Given the description of an element on the screen output the (x, y) to click on. 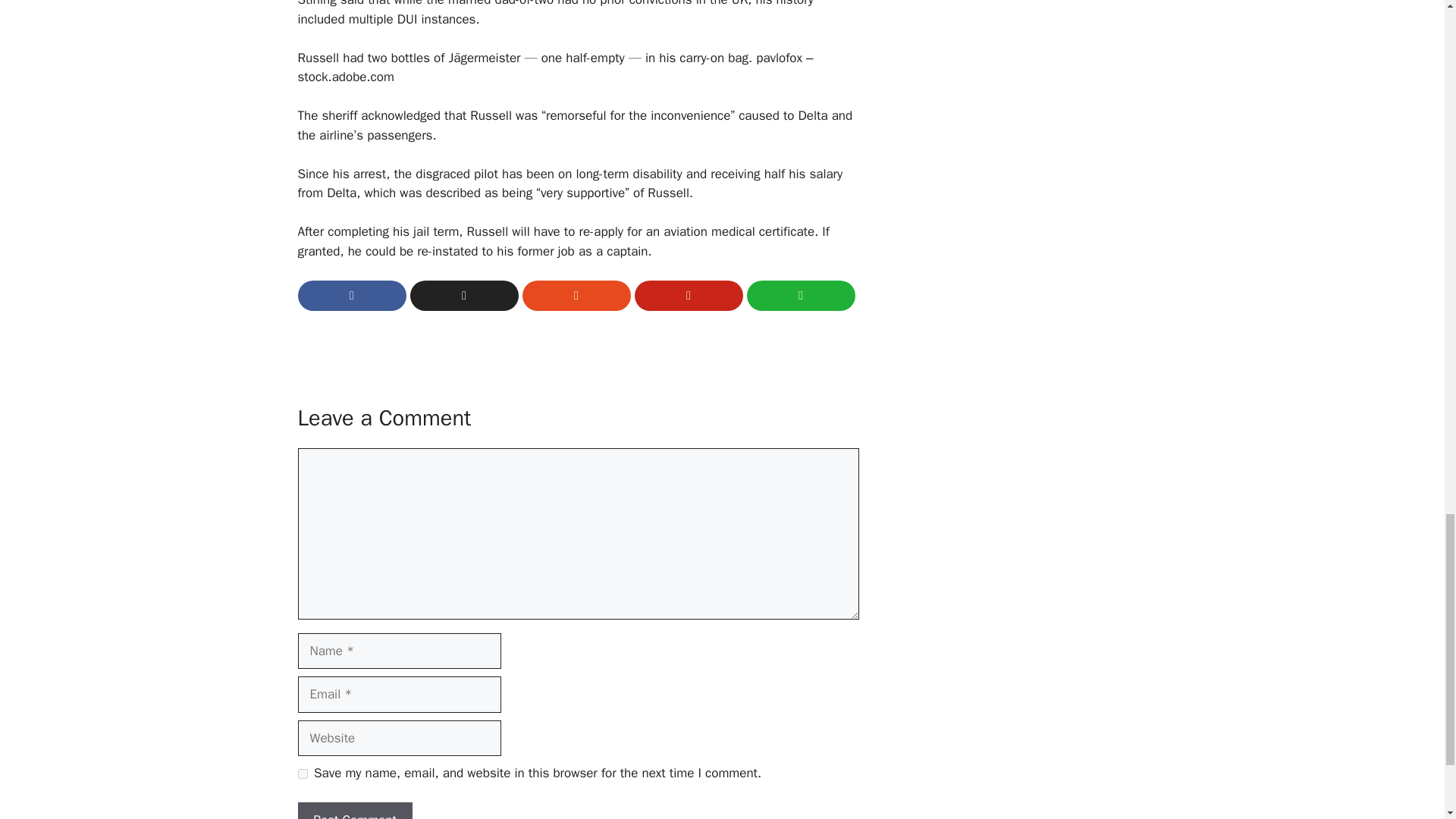
Post Comment (354, 810)
Post Comment (354, 810)
yes (302, 773)
